Given the description of an element on the screen output the (x, y) to click on. 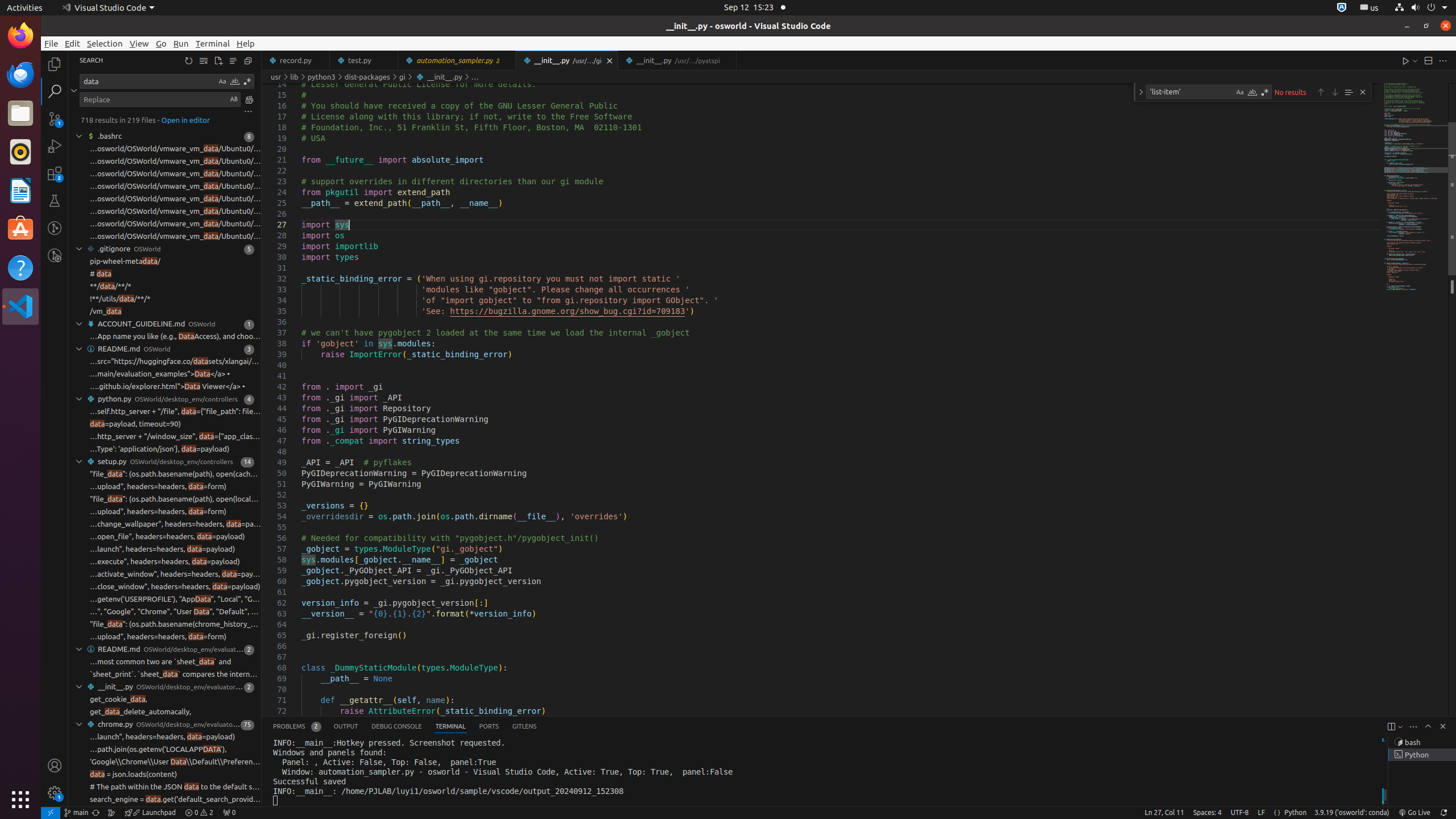
OSWorld (Git) - main, Checkout Branch/Tag... Element type: push-button (75, 812)
'`sheet_print`. `sheet_data` compares the internal cell values through pandoc,' at column 23 found data Element type: tree-item (164, 673)
remote Element type: push-button (50, 812)
New Terminal (Ctrl+Shift+`) [Alt] Split Terminal (Ctrl+Shift+5) Element type: push-button (1390, 726)
Editor Language Status: Auto Import Completions: false Element type: push-button (1277, 812)
